Given the description of an element on the screen output the (x, y) to click on. 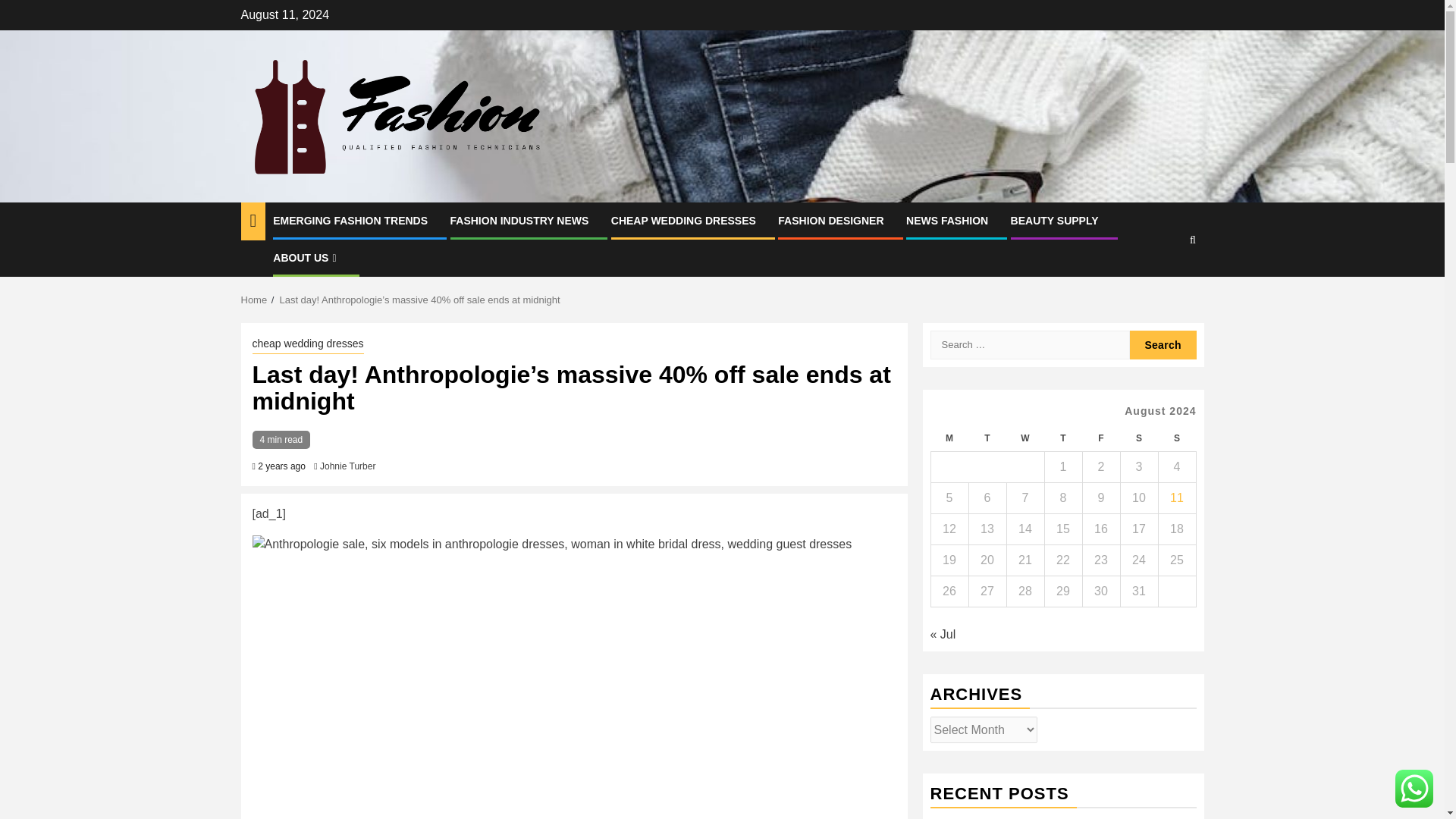
Home (254, 299)
NEWS FASHION (946, 220)
Search (1162, 344)
Wednesday (1024, 438)
EMERGING FASHION TRENDS (350, 220)
cheap wedding dresses (306, 343)
Search (1162, 344)
Johnie Turber (347, 466)
Monday (949, 438)
CHEAP WEDDING DRESSES (683, 220)
